Given the description of an element on the screen output the (x, y) to click on. 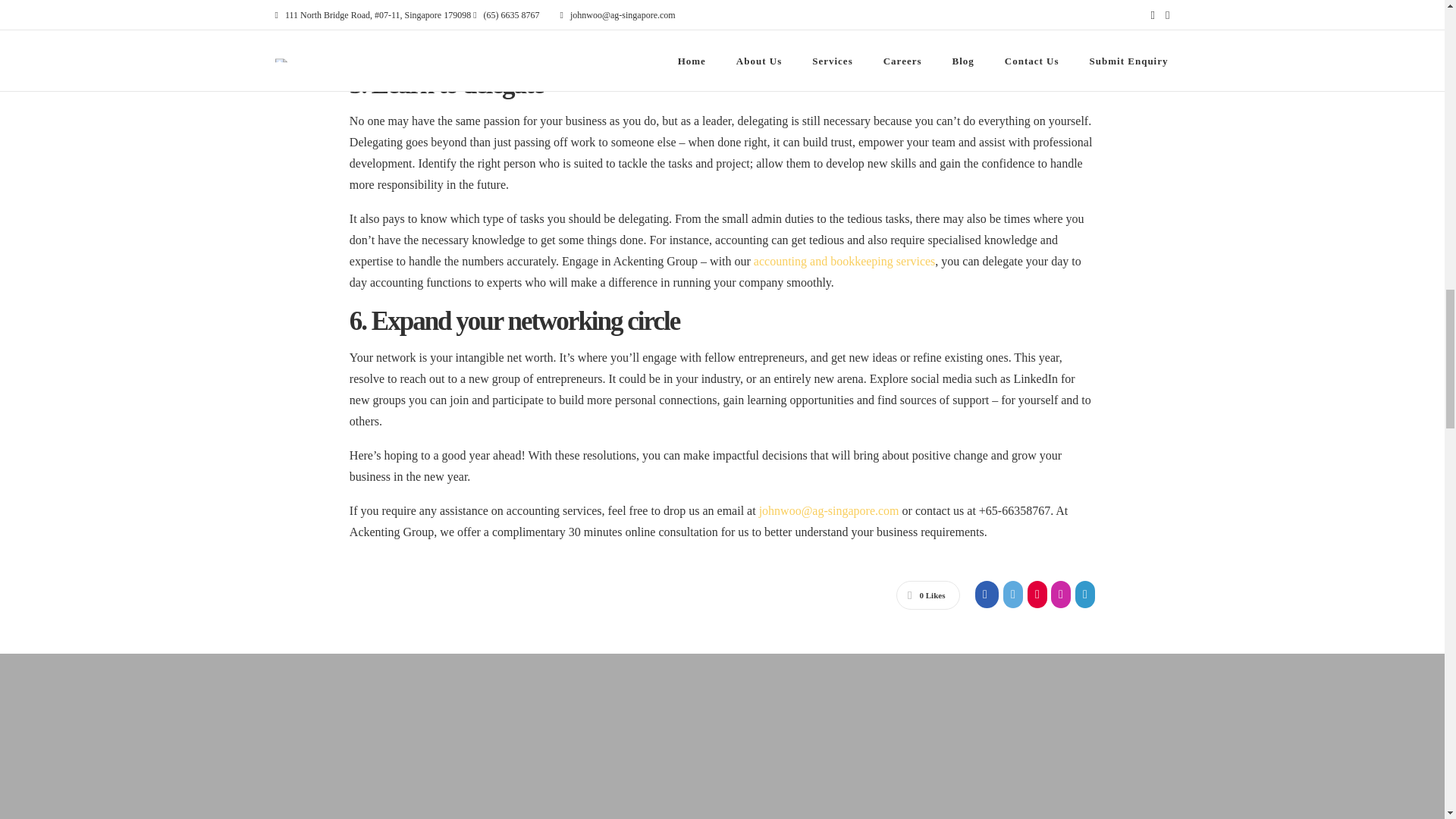
accounting and bookkeeping services (844, 260)
